Given the description of an element on the screen output the (x, y) to click on. 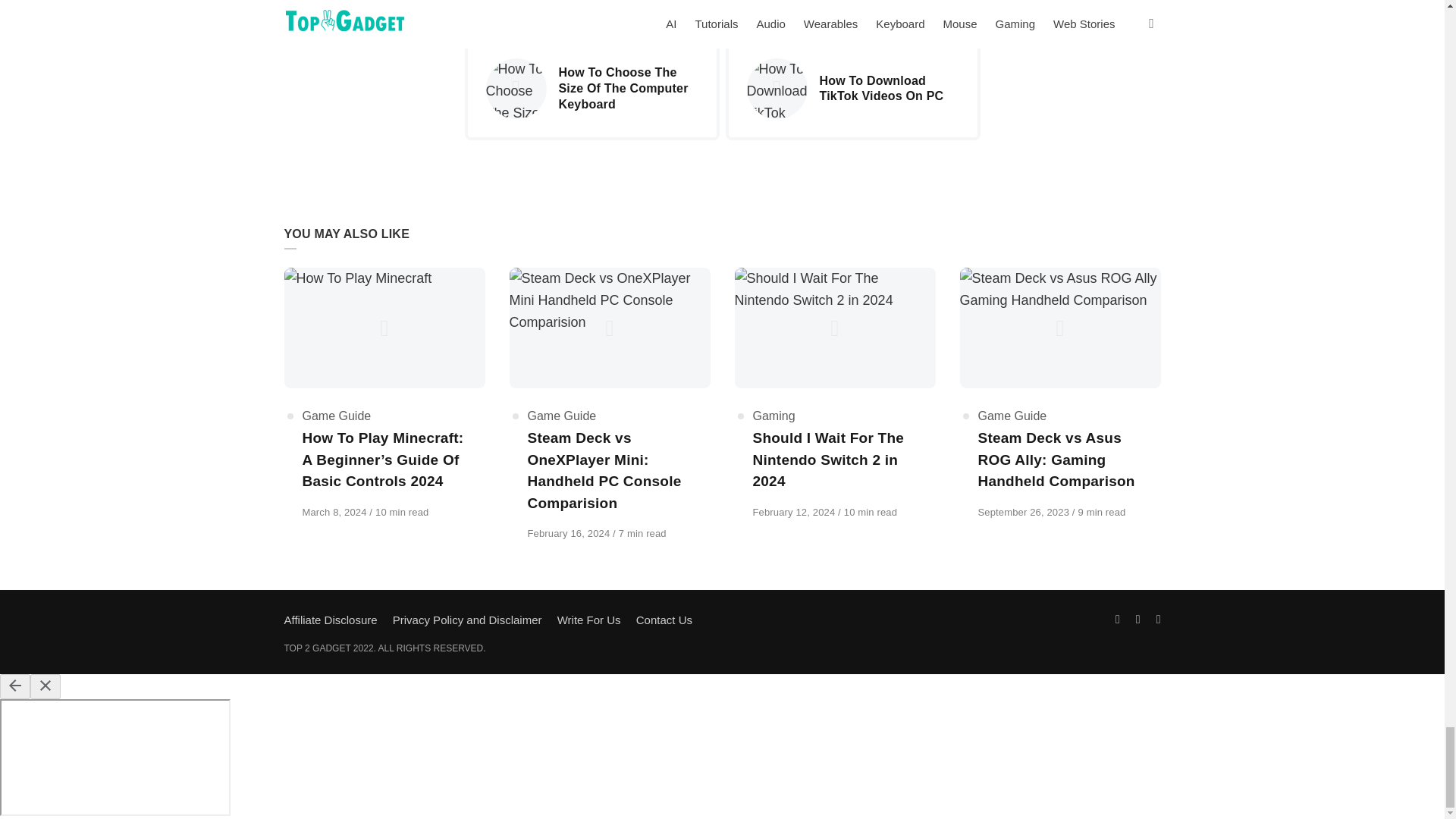
March 8, 2024 (335, 511)
February 16, 2024 (569, 532)
February 12, 2024 (795, 511)
Gaming (773, 415)
How To Download TikTok Videos On PC (851, 88)
Game Guide (1012, 415)
Game Guide (336, 415)
Game Guide (561, 415)
March 8, 2024 (335, 511)
February 12, 2024 (795, 511)
September 26, 2023 (1024, 511)
September 26, 2023 (1024, 511)
February 16, 2024 (569, 532)
How To Choose The Size Of The Computer Keyboard (590, 88)
Affiliate Disclosure (330, 619)
